Given the description of an element on the screen output the (x, y) to click on. 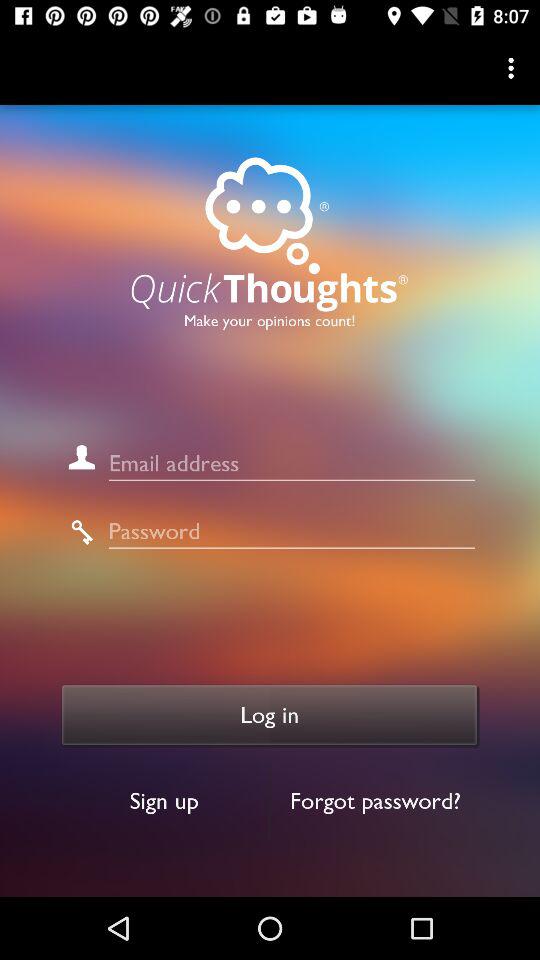
turn off the forgot password? (375, 800)
